Given the description of an element on the screen output the (x, y) to click on. 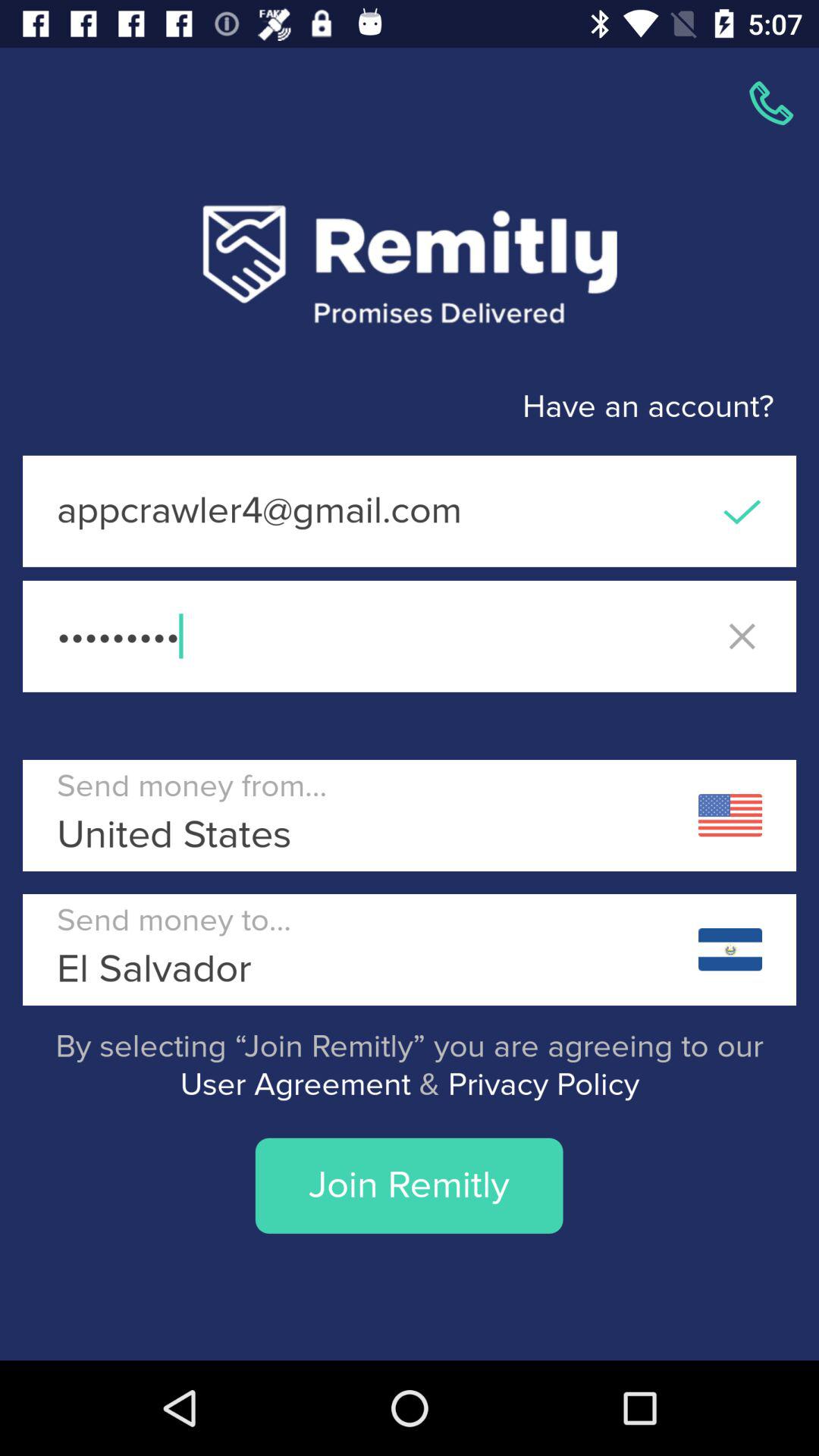
select the app above the have an account? icon (771, 103)
